Given the description of an element on the screen output the (x, y) to click on. 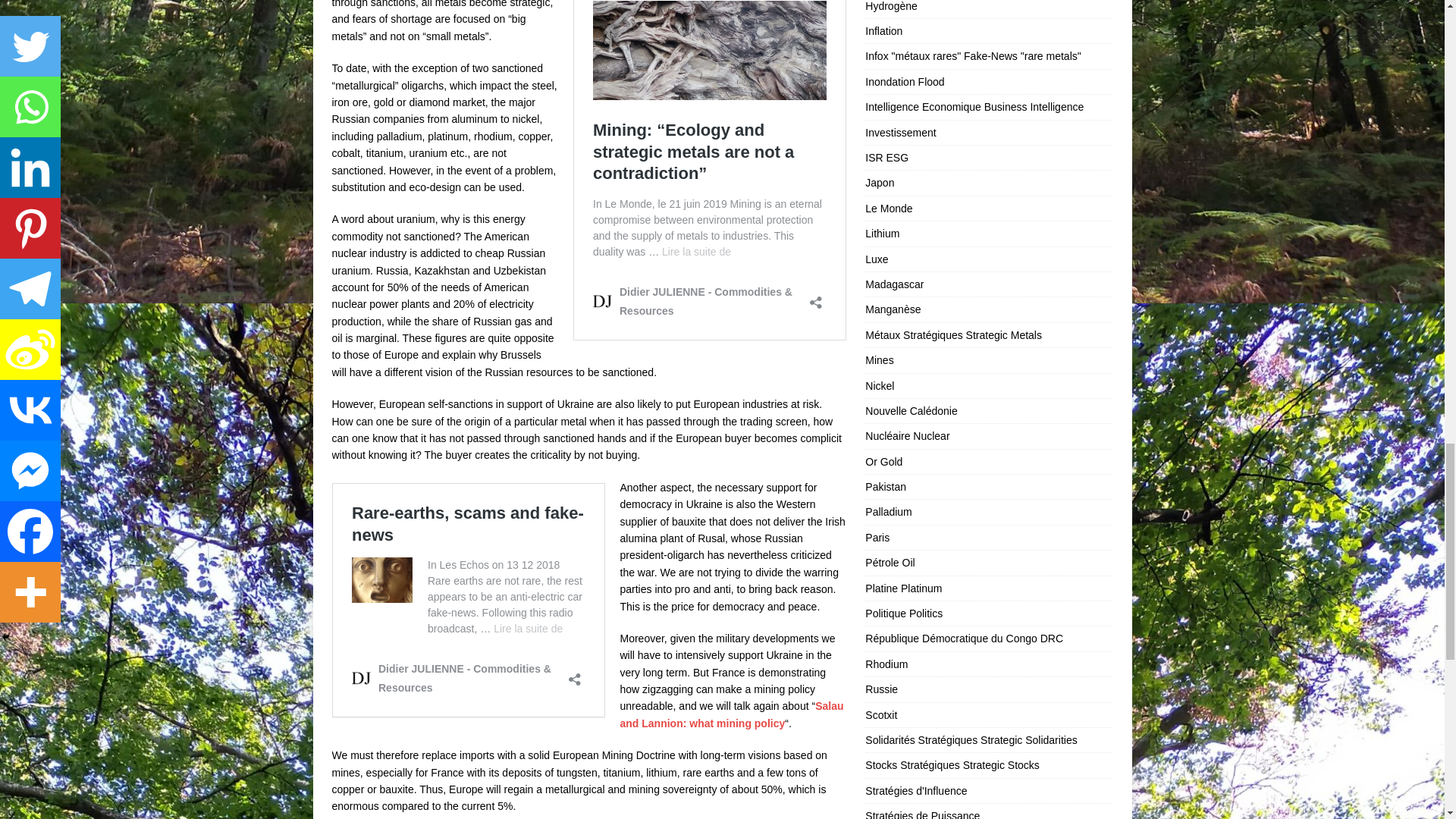
Salau and Lannion: what mining policy (732, 714)
